Given the description of an element on the screen output the (x, y) to click on. 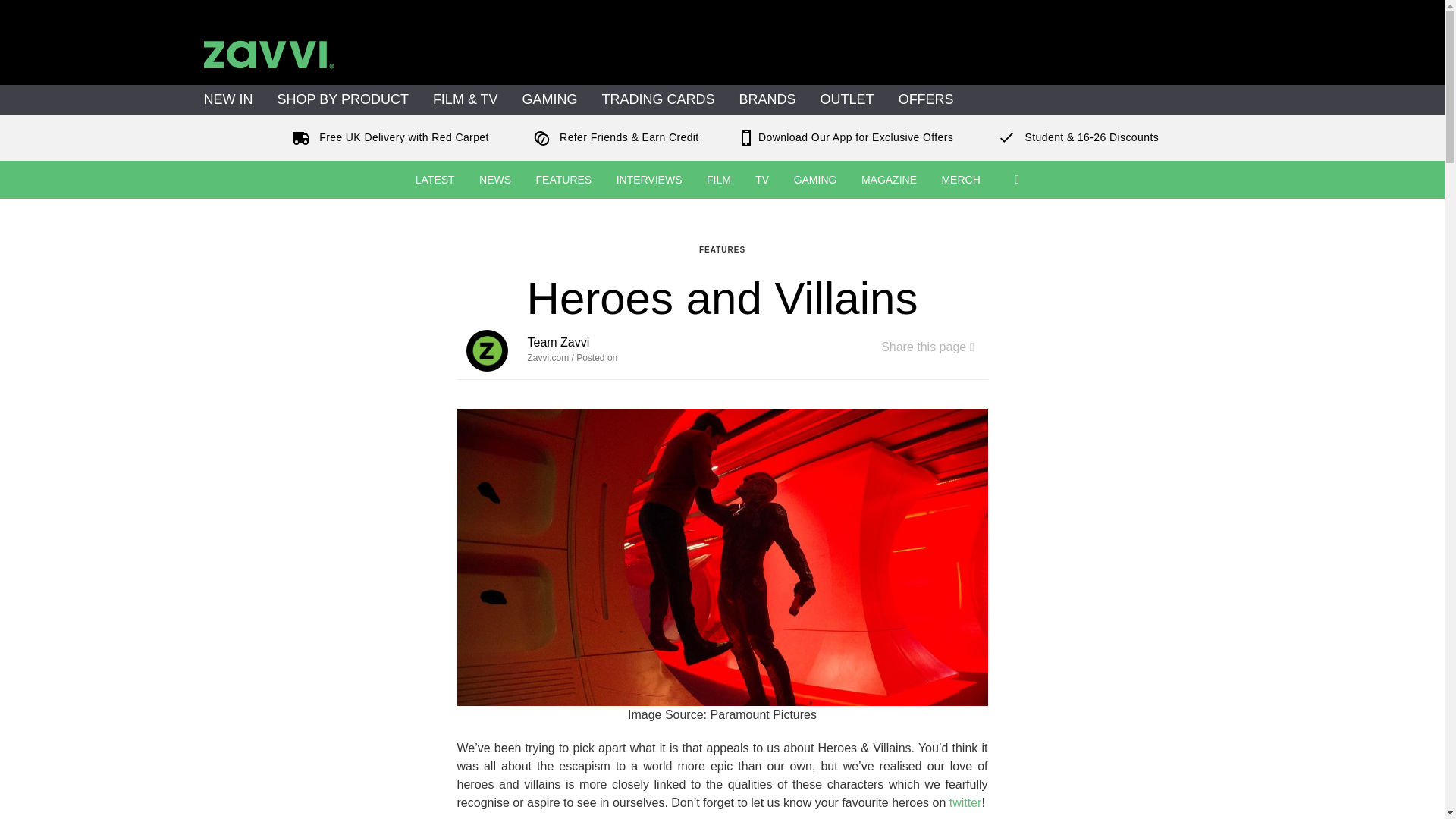
Read more posts by Team Zavvi (558, 341)
Skip to main content (55, 9)
Read more posts by Team Zavvi (490, 350)
Team Zavvi (485, 350)
Read more Features articles (722, 249)
SHOP BY PRODUCT (342, 100)
NEW IN (227, 100)
